Given the description of an element on the screen output the (x, y) to click on. 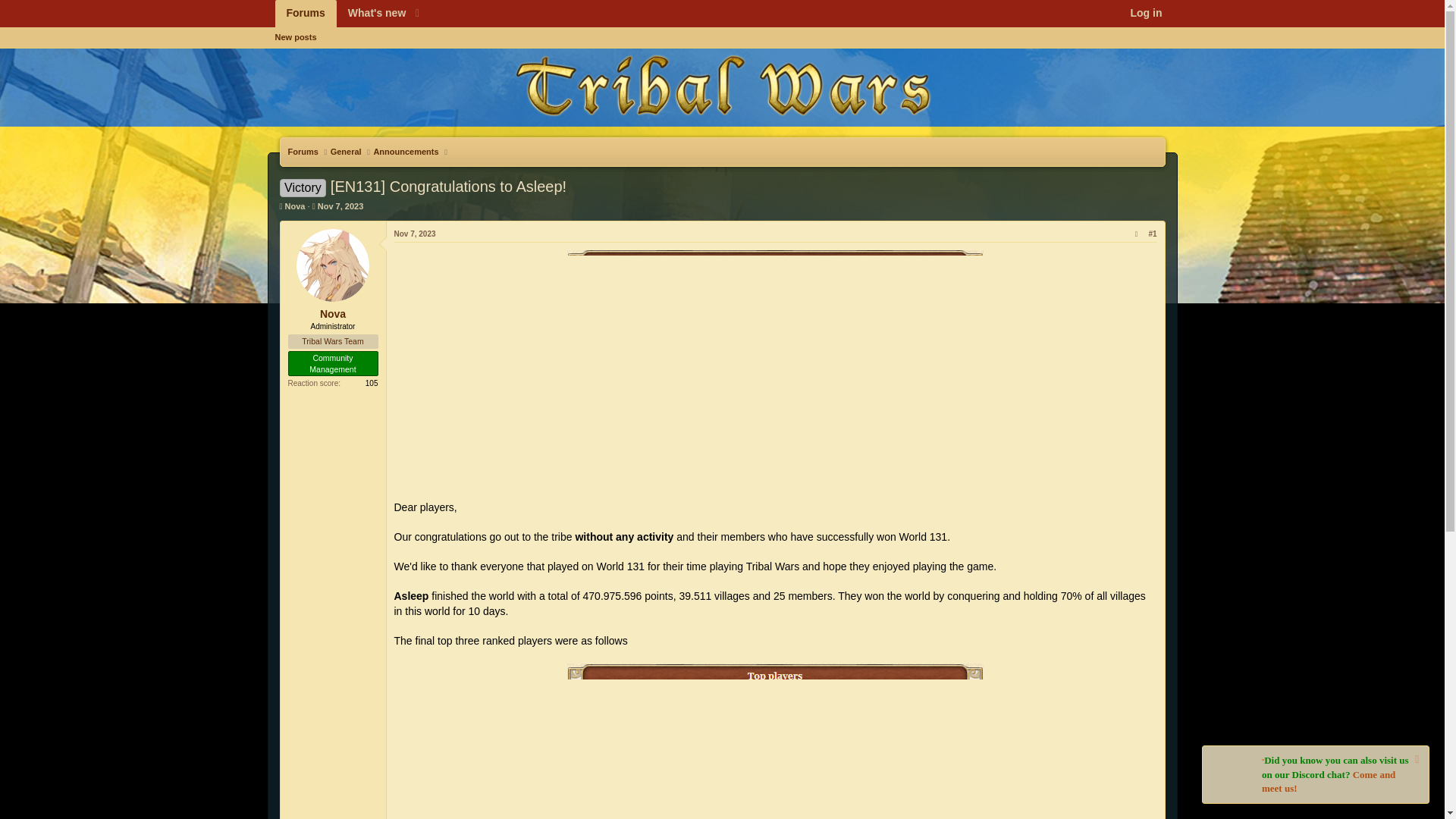
Forums (305, 13)
en131 top players.png (775, 741)
Log in (1145, 13)
Nov 7, 2023 (340, 205)
New posts (720, 54)
Nova (349, 13)
New posts (333, 313)
Nov 7, 2023 at 5:32 PM (294, 37)
en131 top tribe.png (340, 205)
Nova (775, 368)
General (295, 205)
Nov 7, 2023 (345, 151)
Announcements (414, 234)
What's new (405, 151)
